Given the description of an element on the screen output the (x, y) to click on. 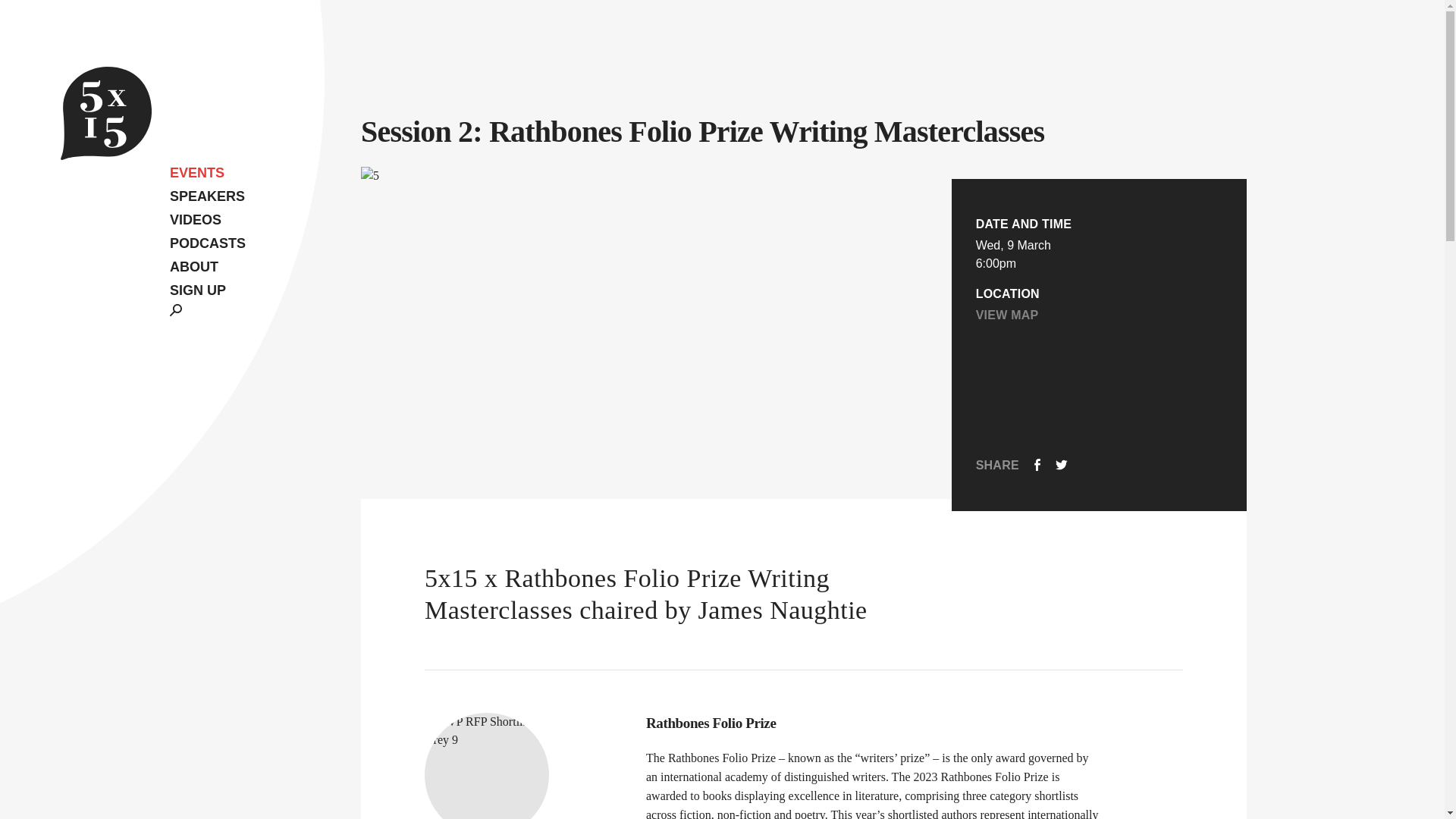
FACEBOOK (1037, 465)
TWITTER (1061, 464)
FACEBOOK (1036, 464)
VIDEOS (208, 218)
Rathbones Folio Prize (873, 723)
VIEW MAP (1007, 314)
ABOUT (208, 265)
PODCASTS (208, 241)
EVENTS (208, 171)
Subscribe (799, 381)
SIGN UP (197, 289)
TWITTER (1061, 465)
SPEAKERS (208, 195)
